Given the description of an element on the screen output the (x, y) to click on. 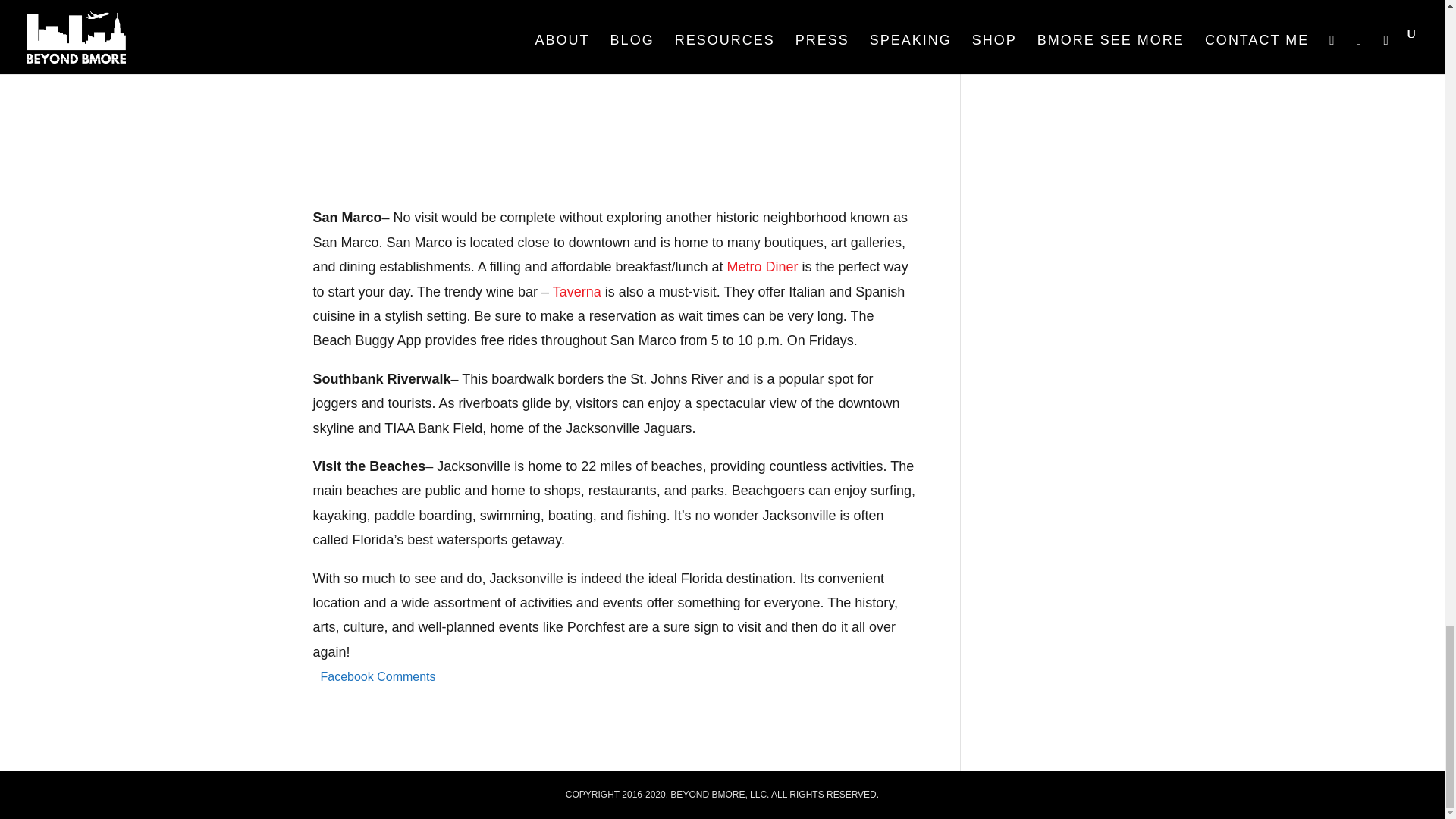
Taverna (577, 291)
Metro Diner (761, 266)
